Given the description of an element on the screen output the (x, y) to click on. 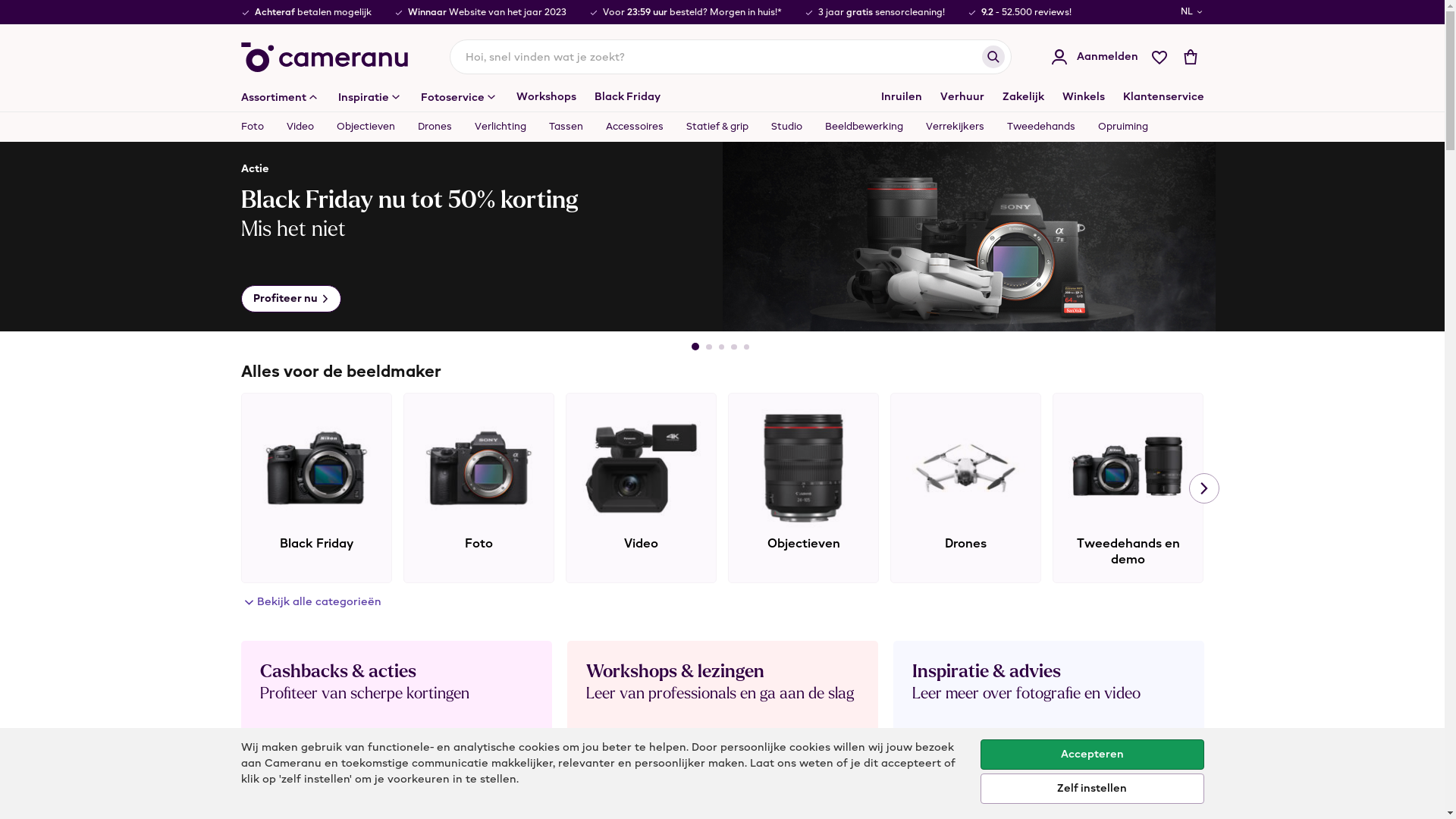
Workshops Element type: text (545, 96)
Beeldbewerking Element type: text (862, 126)
Fotoservice Element type: text (458, 96)
Verlichting Element type: text (499, 126)
Opruiming Element type: text (1116, 126)
Aanmelden Element type: text (1092, 56)
Accessoires Element type: text (634, 126)
Verhuur Element type: text (962, 96)
Winnaar Website van het jaar 2023 Element type: text (486, 11)
Drones Element type: text (434, 126)
Video Element type: text (640, 487)
Achteraf betalen mogelijk Element type: text (312, 11)
Winkelwagen Element type: hover (1190, 56)
Black Friday Element type: text (316, 487)
Tassen Element type: text (564, 126)
Video Element type: text (299, 126)
Verrekijkers Element type: text (954, 126)
9.2 - 52.500 reviews! Element type: text (1026, 11)
Assortiment Element type: text (280, 96)
Zakelijk Element type: text (1023, 96)
Inspiratie & advies
Leer meer over fotografie en video Element type: text (1048, 714)
Statief & grip Element type: text (716, 126)
Inruilen Element type: text (901, 96)
Foto Element type: text (478, 487)
Foto Element type: text (258, 126)
Zelf instellen Element type: text (1091, 788)
Studio Element type: text (786, 126)
Tweedehands en demo Element type: text (1127, 487)
Winkels Element type: text (1082, 96)
Verlichting Element type: text (1289, 487)
Tweedehands Element type: text (1039, 126)
Black Friday Element type: text (627, 96)
Cashbacks & acties
Profiteer van scherpe kortingen Element type: text (396, 714)
Objectieven Element type: text (803, 487)
3 jaar gratis sensorcleaning! Element type: text (880, 11)
Klantenservice Element type: text (1162, 96)
NL Element type: text (1191, 11)
Objectieven Element type: text (364, 126)
Verlanglijstje Element type: hover (1158, 56)
Drones Element type: text (965, 487)
Inspiratie Element type: text (370, 96)
Voor 23:59 uur besteld? Morgen in huis!* Element type: text (691, 11)
Accepteren Element type: text (1091, 754)
